Given the description of an element on the screen output the (x, y) to click on. 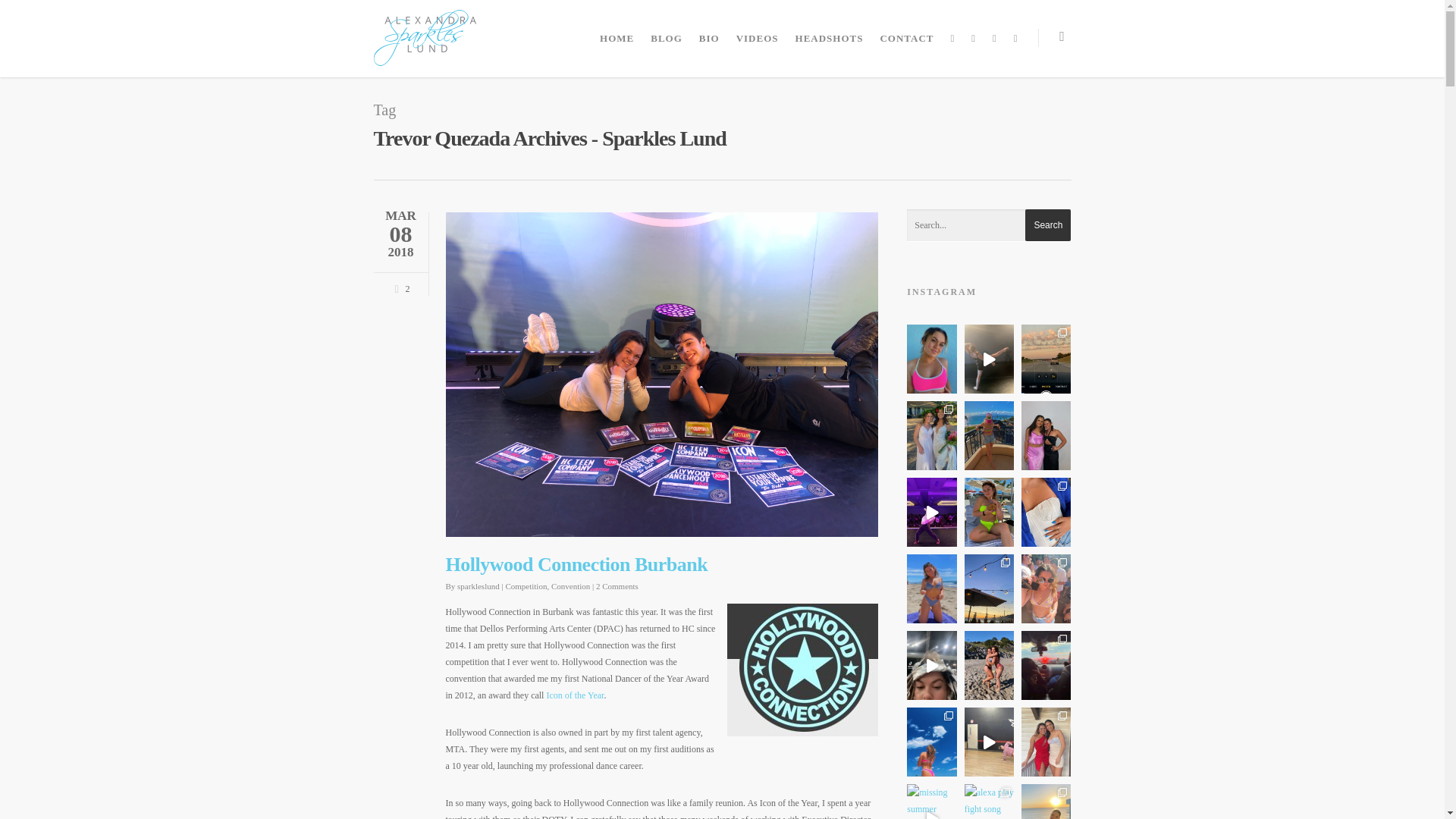
Convention (570, 585)
sparkleslund (478, 585)
Hollywood Connection Burbank (576, 564)
2 (399, 286)
Competition (526, 585)
Posts by sparkleslund (478, 585)
Search (1047, 224)
Icon of the Year (575, 695)
HEADSHOTS (828, 41)
CONTACT (906, 41)
